Given the description of an element on the screen output the (x, y) to click on. 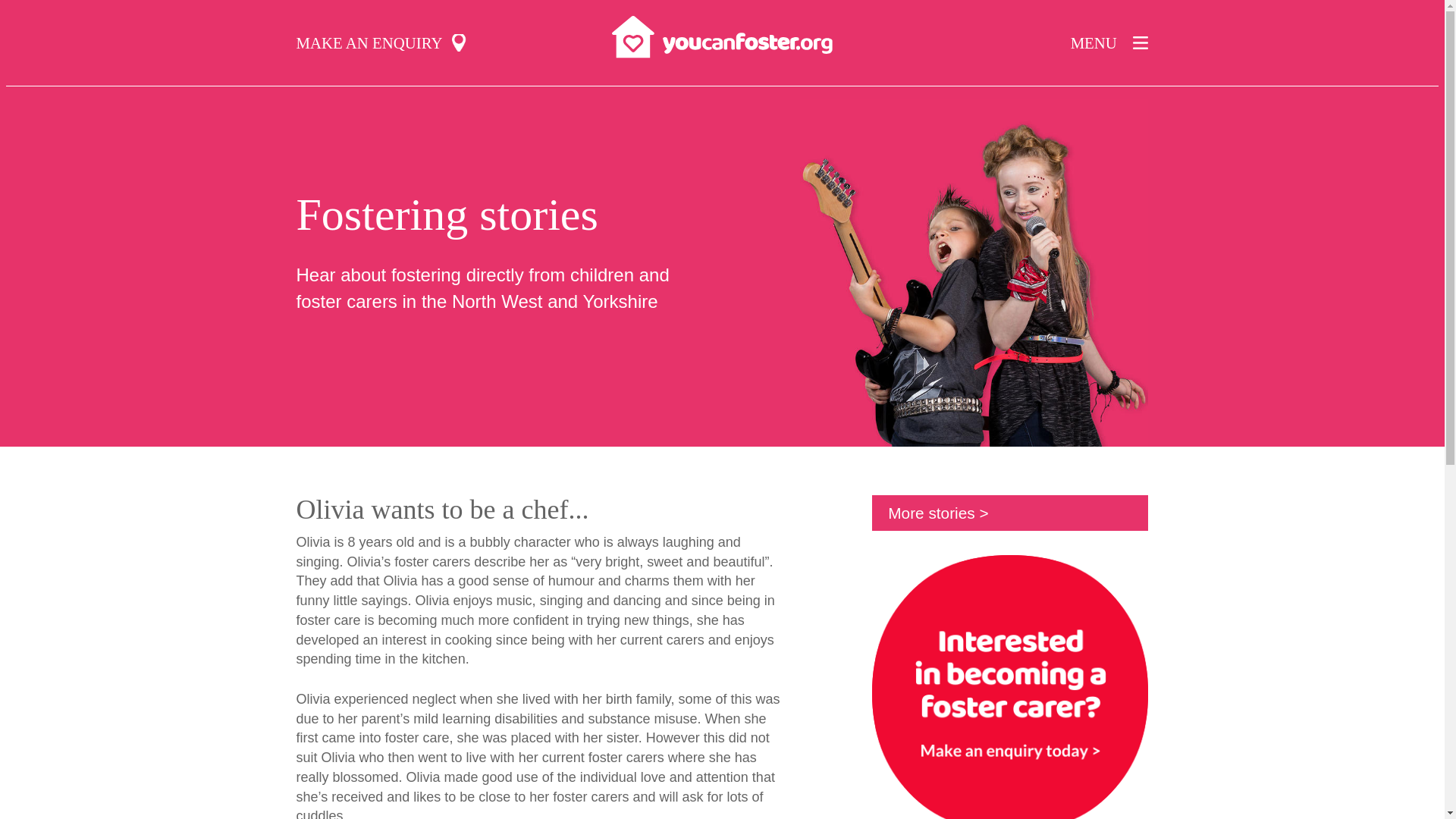
MENU (1109, 42)
MAKE AN ENQUIRY (380, 42)
Home (721, 35)
